Given the description of an element on the screen output the (x, y) to click on. 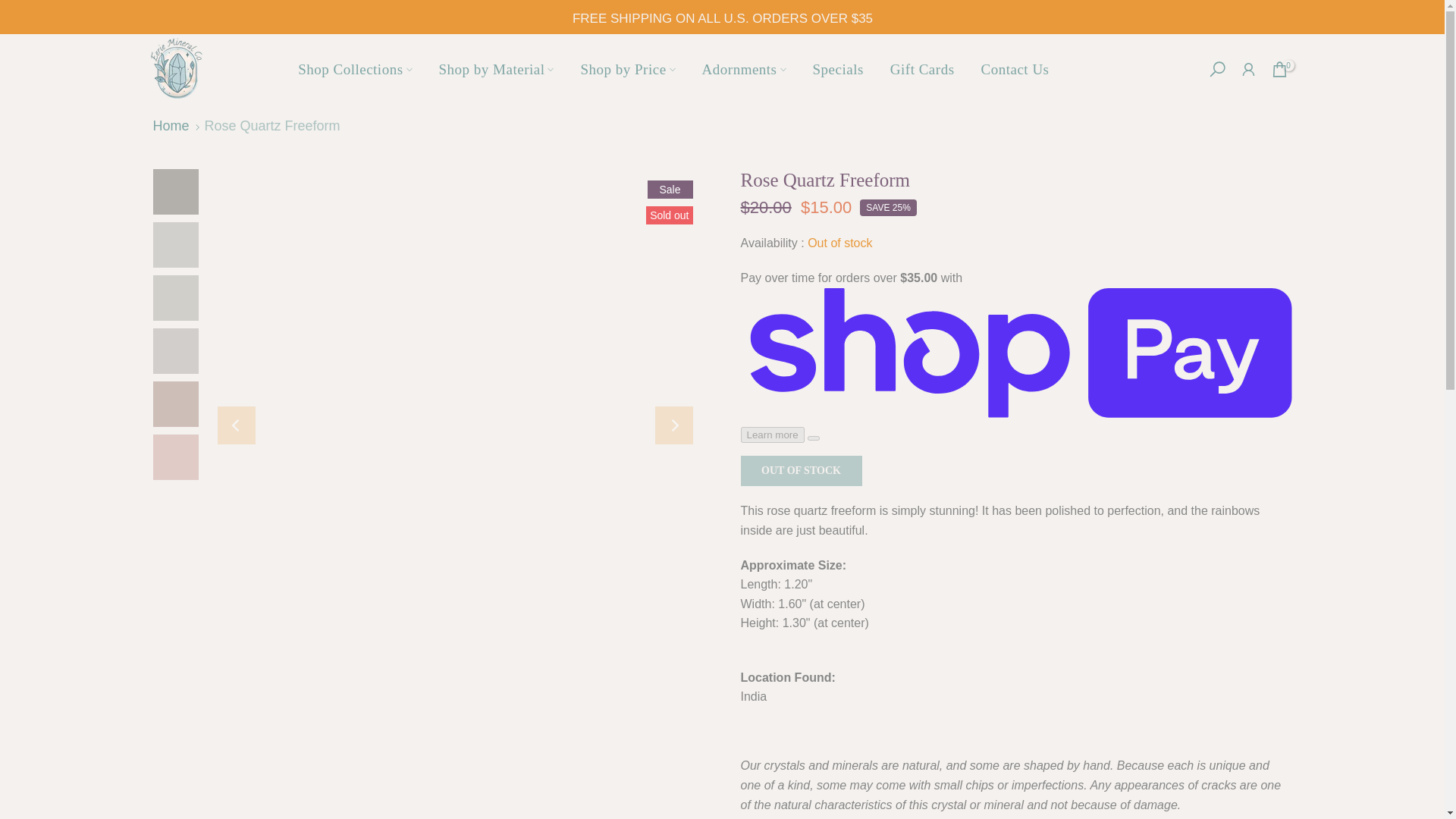
Shop Collections (355, 69)
Skip to content (10, 7)
Shop by Material (496, 69)
